Given the description of an element on the screen output the (x, y) to click on. 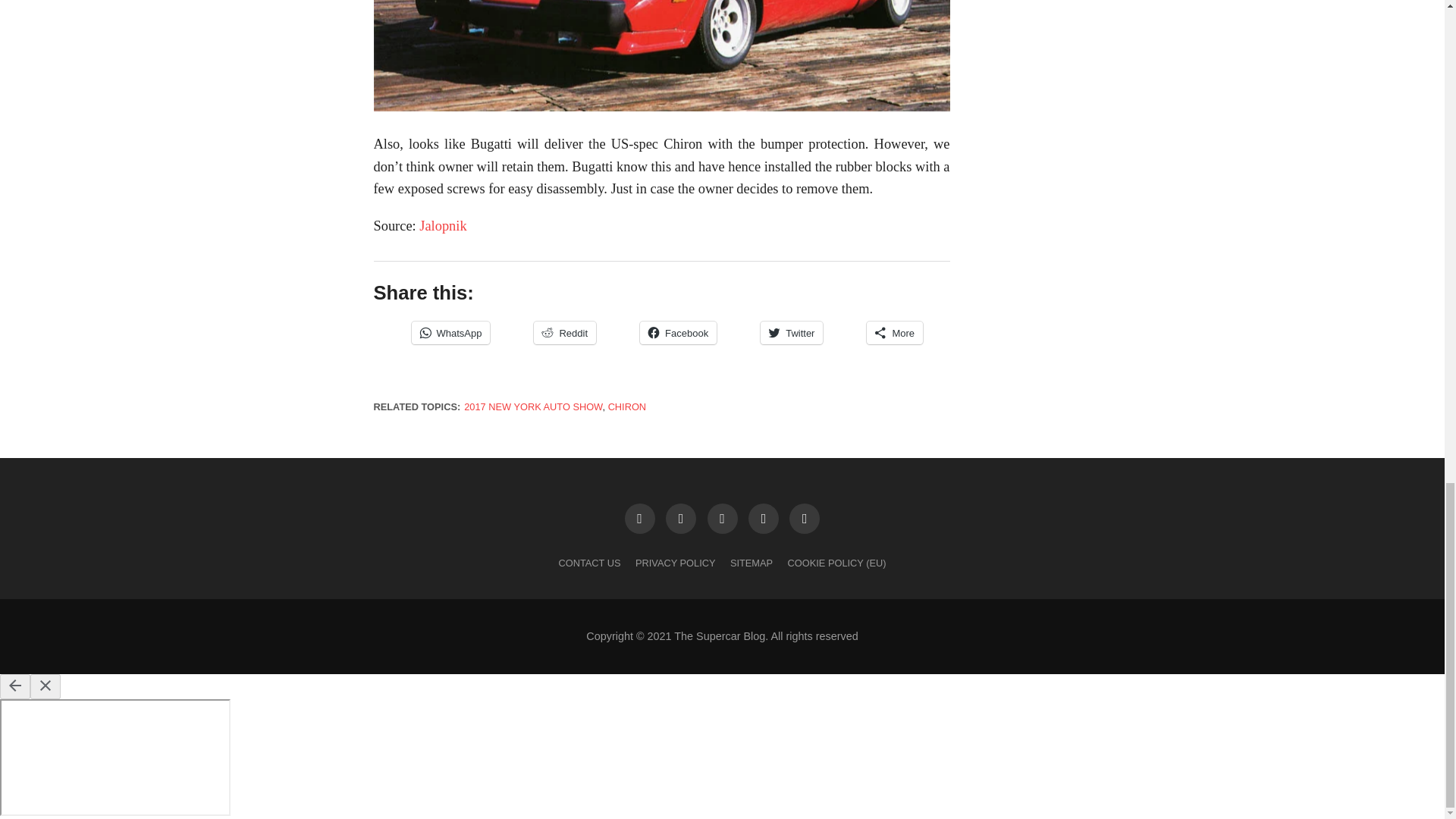
Facebook (678, 332)
More (894, 332)
CHIRON (627, 406)
WhatsApp (449, 332)
Jalopnik (442, 225)
Twitter (791, 332)
Click to share on Facebook (678, 332)
Click to share on WhatsApp (449, 332)
Click to share on Reddit (564, 332)
2017 NEW YORK AUTO SHOW (533, 406)
